Given the description of an element on the screen output the (x, y) to click on. 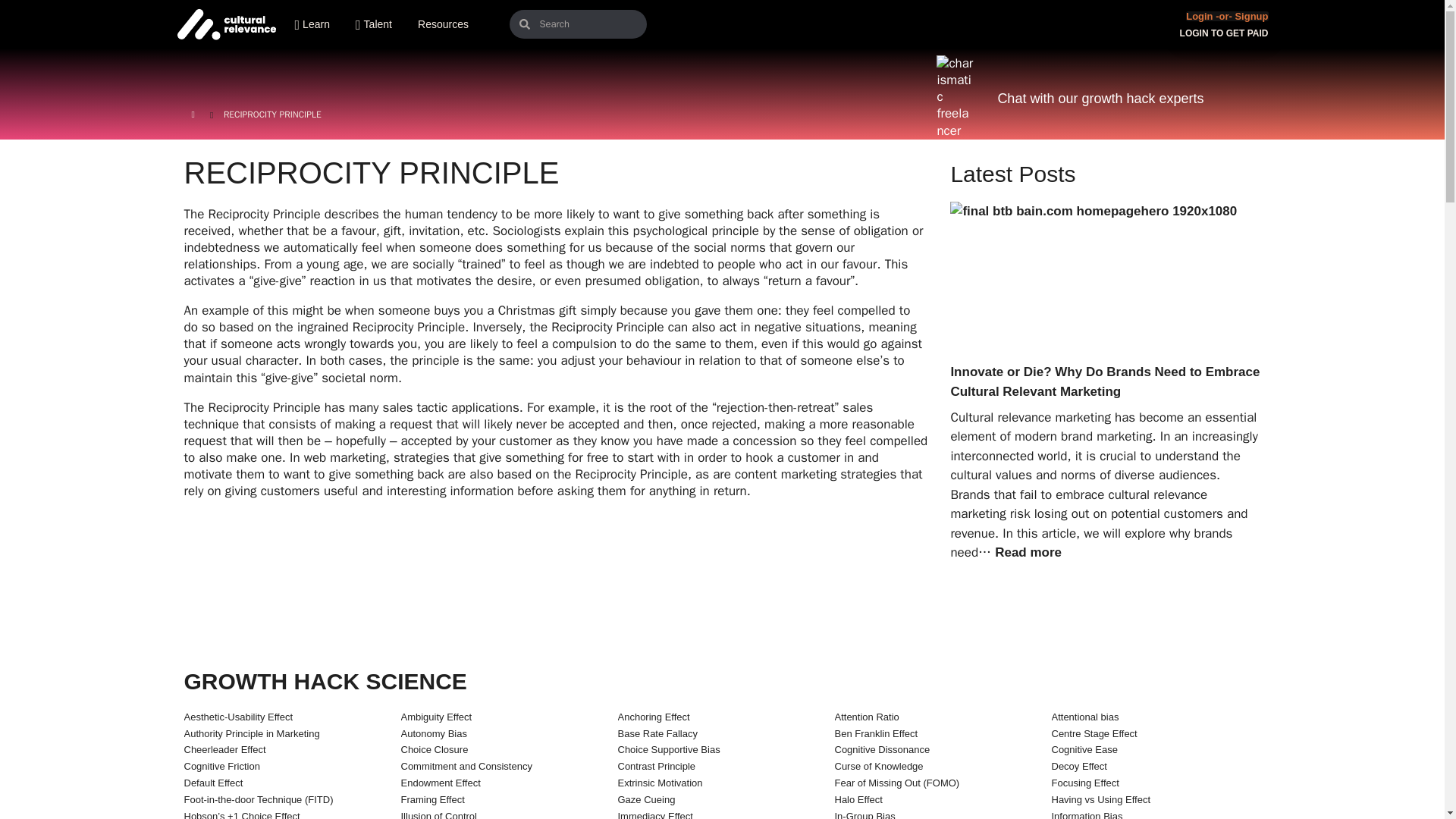
Attentional bias (1084, 716)
Ben Franklin Effect (875, 733)
Learn (325, 24)
Aesthetic-Usability Effect (237, 716)
Anchoring Effect (652, 716)
Authority Principle in Marketing (250, 733)
Read more (1027, 552)
Talent (386, 24)
Attention Ratio (866, 716)
